Given the description of an element on the screen output the (x, y) to click on. 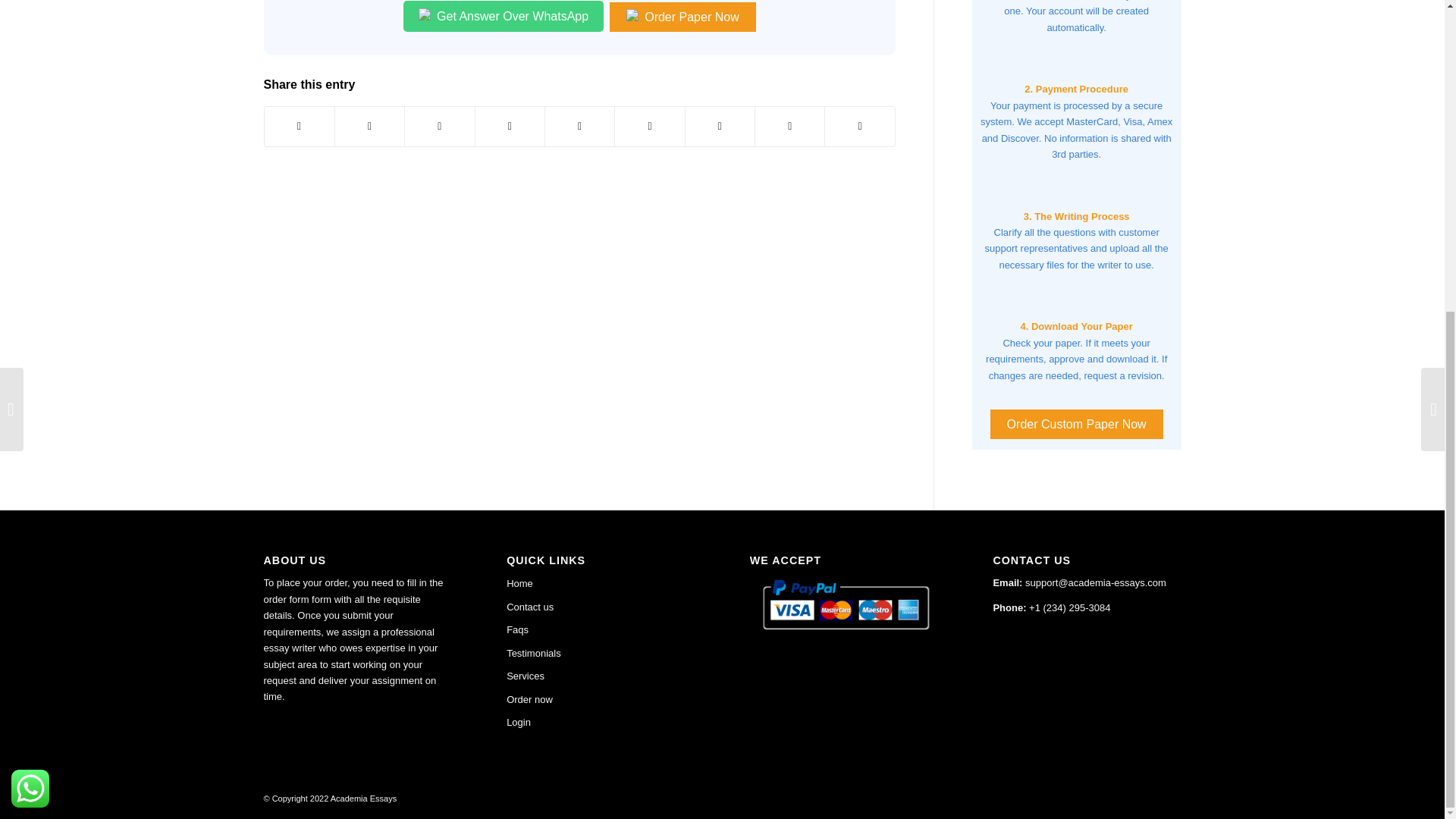
Order Custom Paper Now (1076, 423)
Order Paper Now (682, 16)
Services (600, 676)
Home (600, 583)
Testimonials (600, 653)
Faqs (600, 630)
Contact us (600, 607)
Login (600, 722)
Get Answer Over WhatsApp (503, 15)
Order now (600, 699)
